Given the description of an element on the screen output the (x, y) to click on. 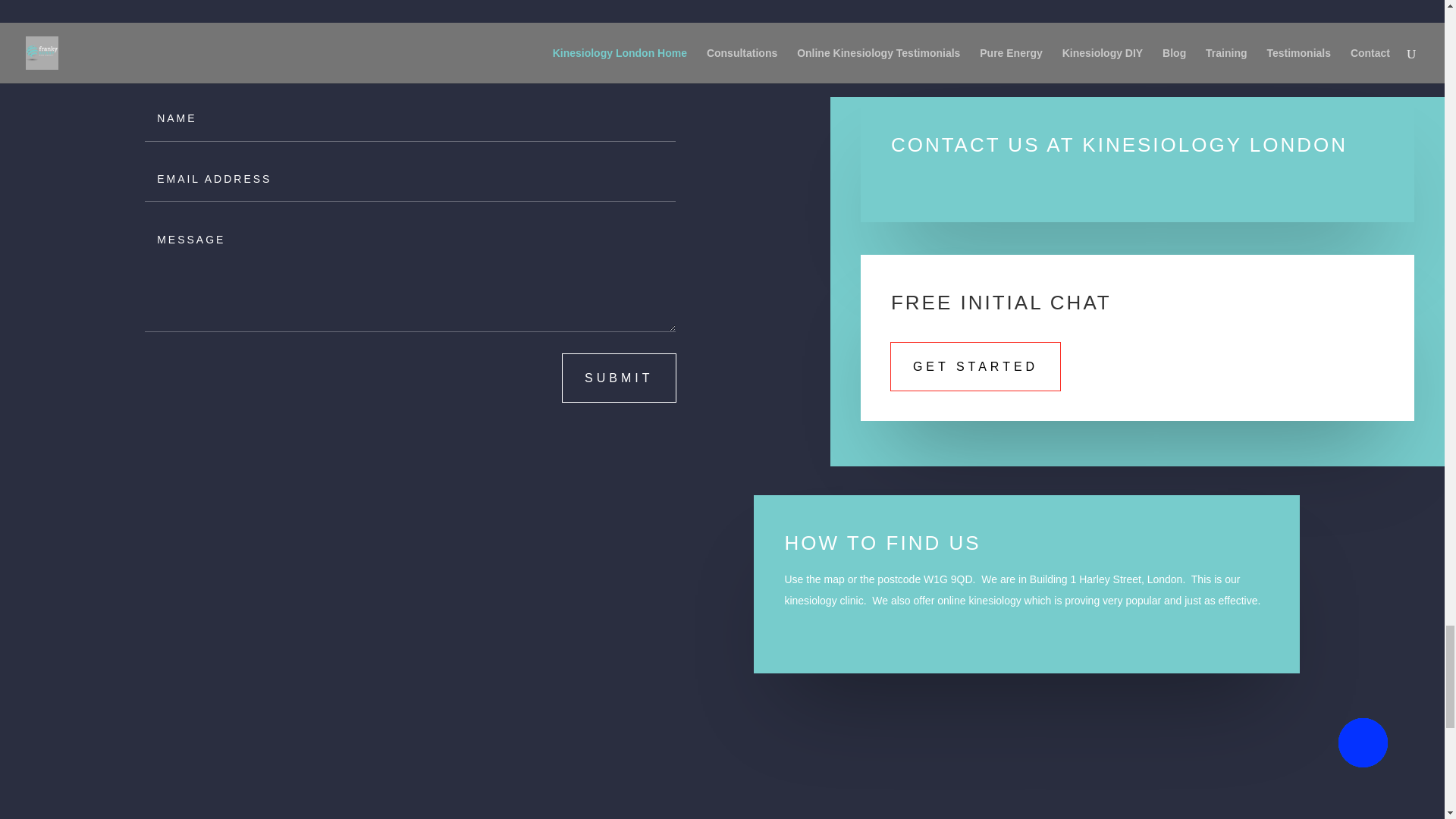
GET STARTED (975, 366)
SUBMIT (618, 377)
